Given the description of an element on the screen output the (x, y) to click on. 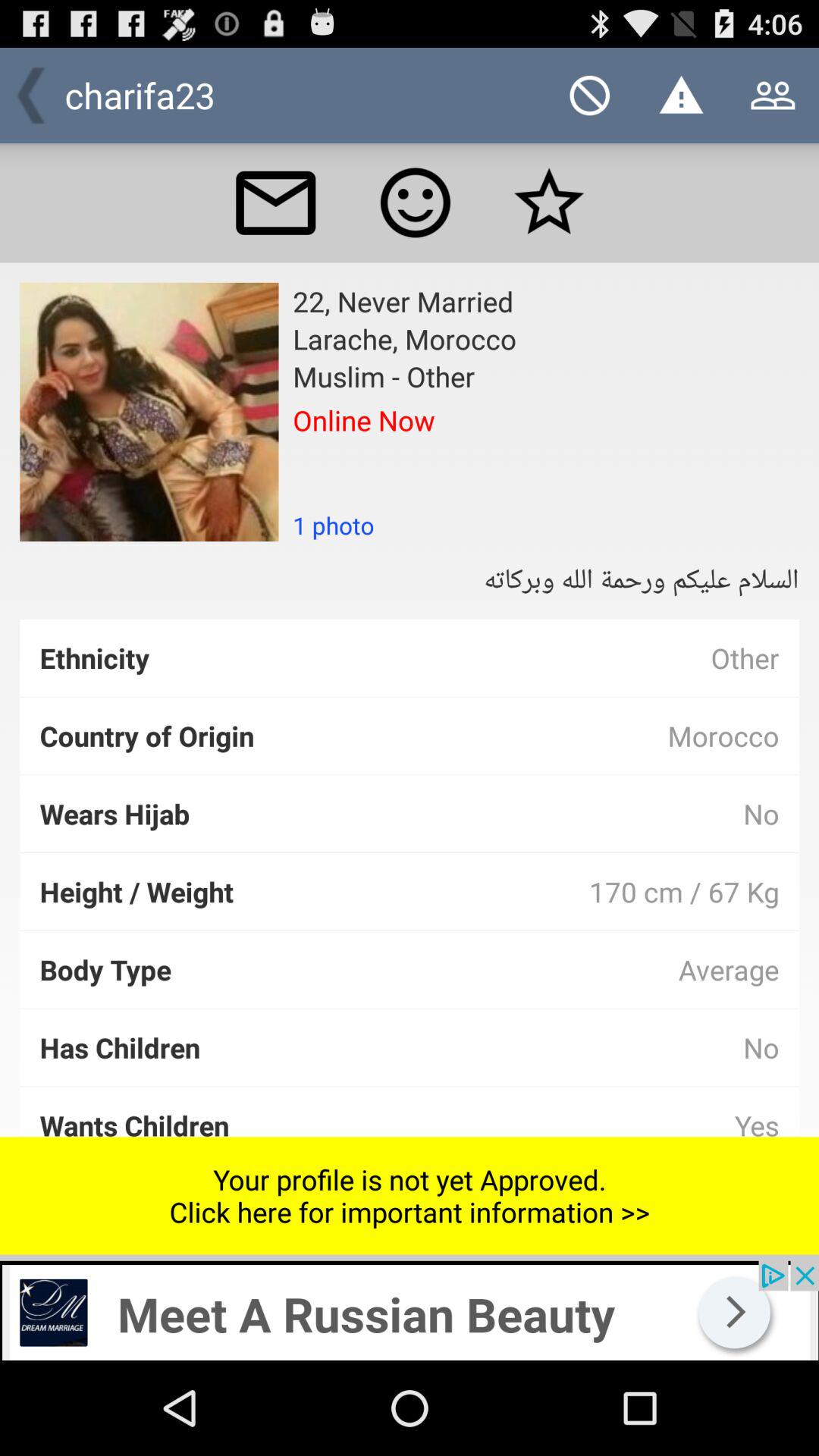
smile symbol (415, 202)
